Given the description of an element on the screen output the (x, y) to click on. 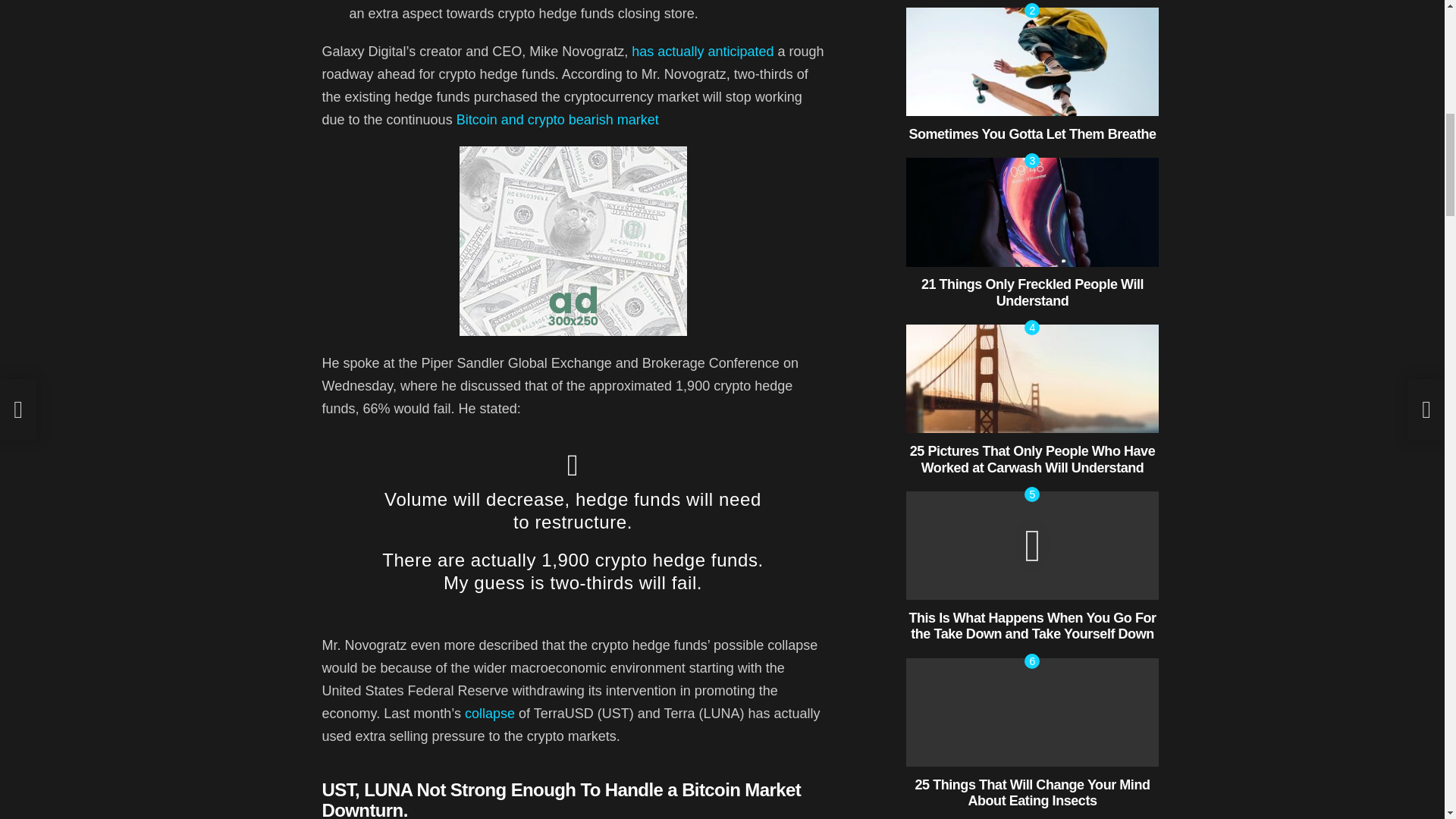
collapse (489, 713)
has actually anticipated (702, 51)
Bitcoin and crypto bearish market (558, 119)
